Given the description of an element on the screen output the (x, y) to click on. 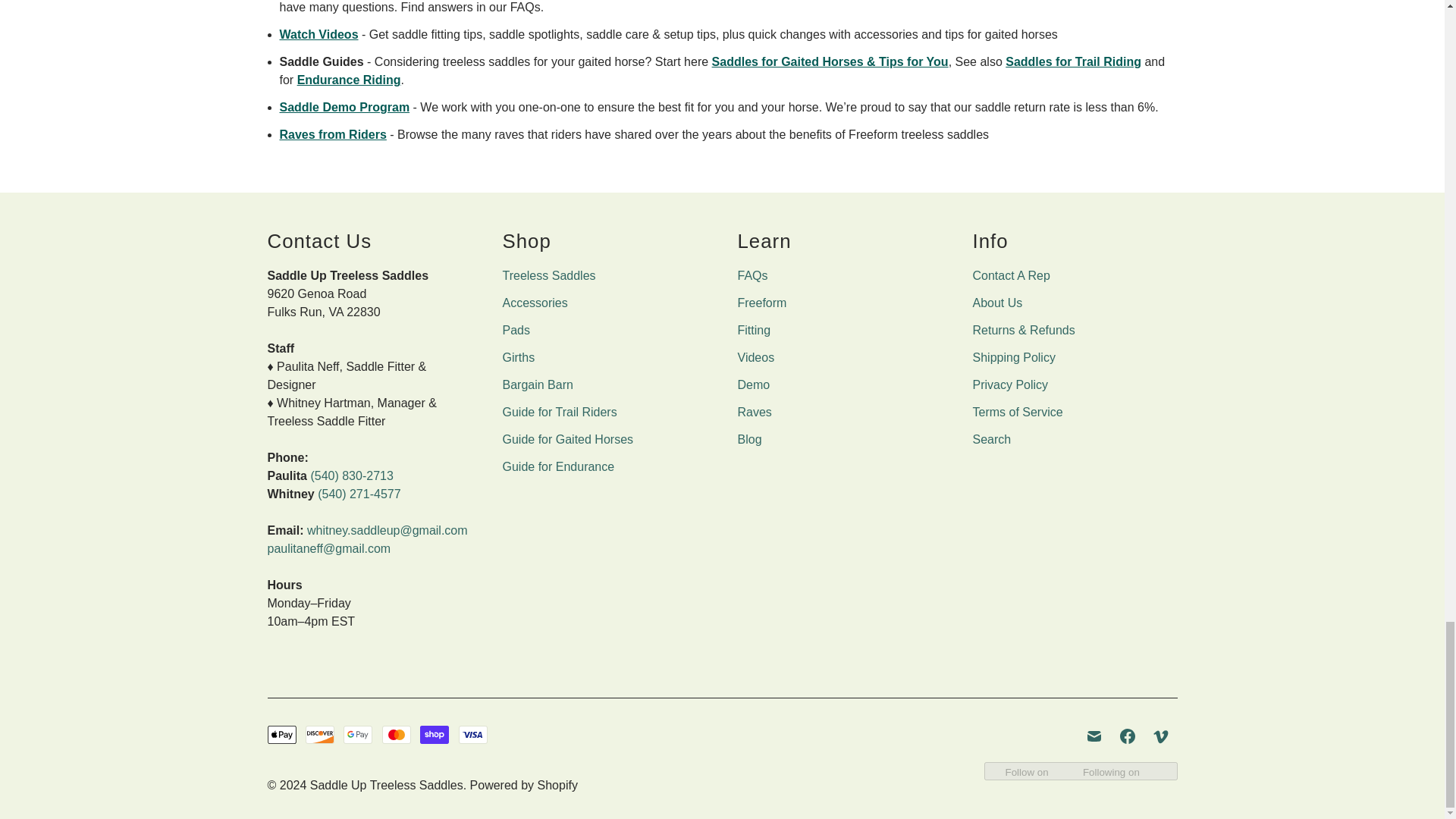
Mastercard (395, 734)
Apple Pay (280, 734)
Visa (472, 734)
Google Pay (357, 734)
Discover (319, 734)
Shop Pay (434, 734)
